Given the description of an element on the screen output the (x, y) to click on. 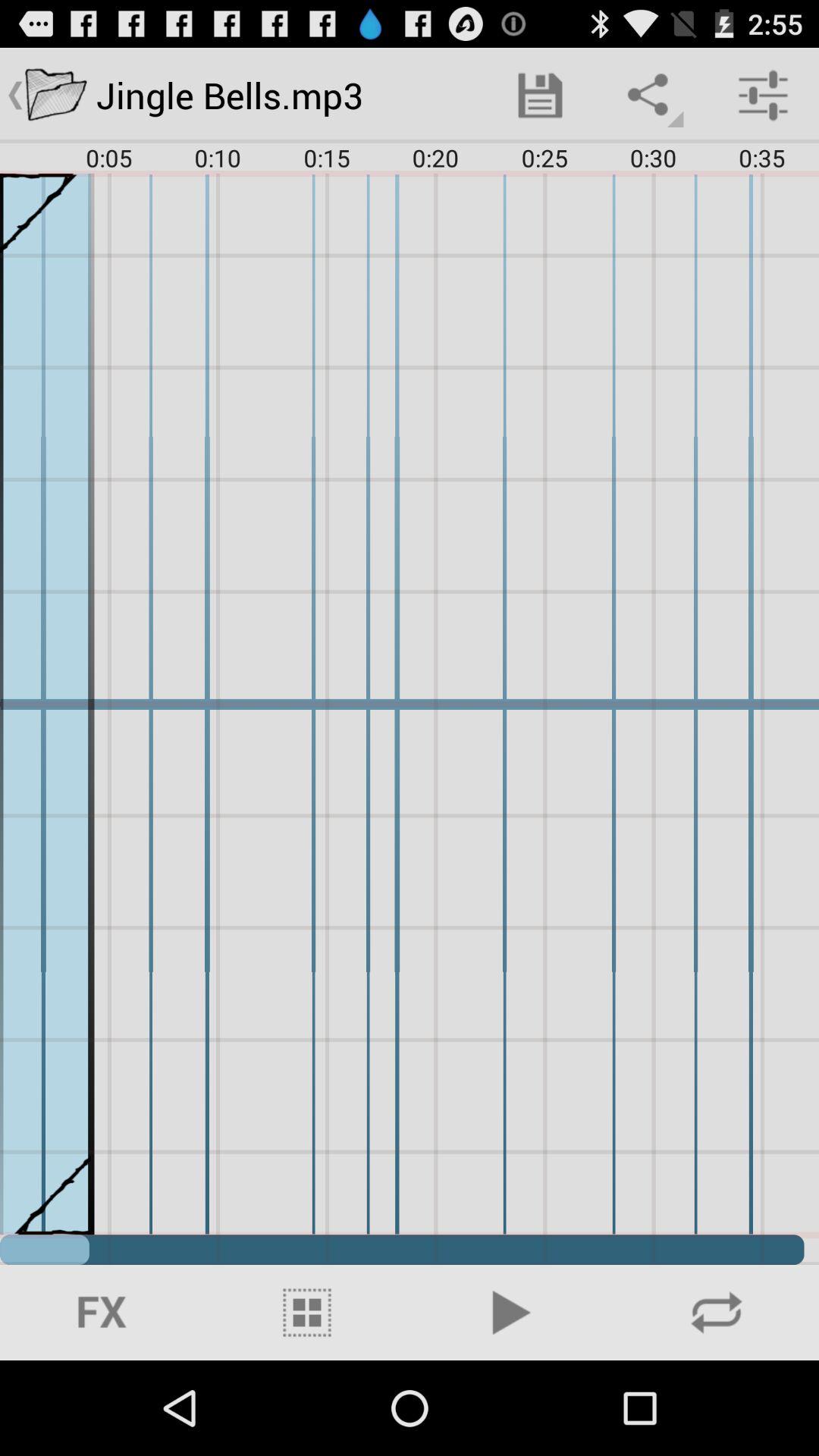
search (716, 1312)
